Given the description of an element on the screen output the (x, y) to click on. 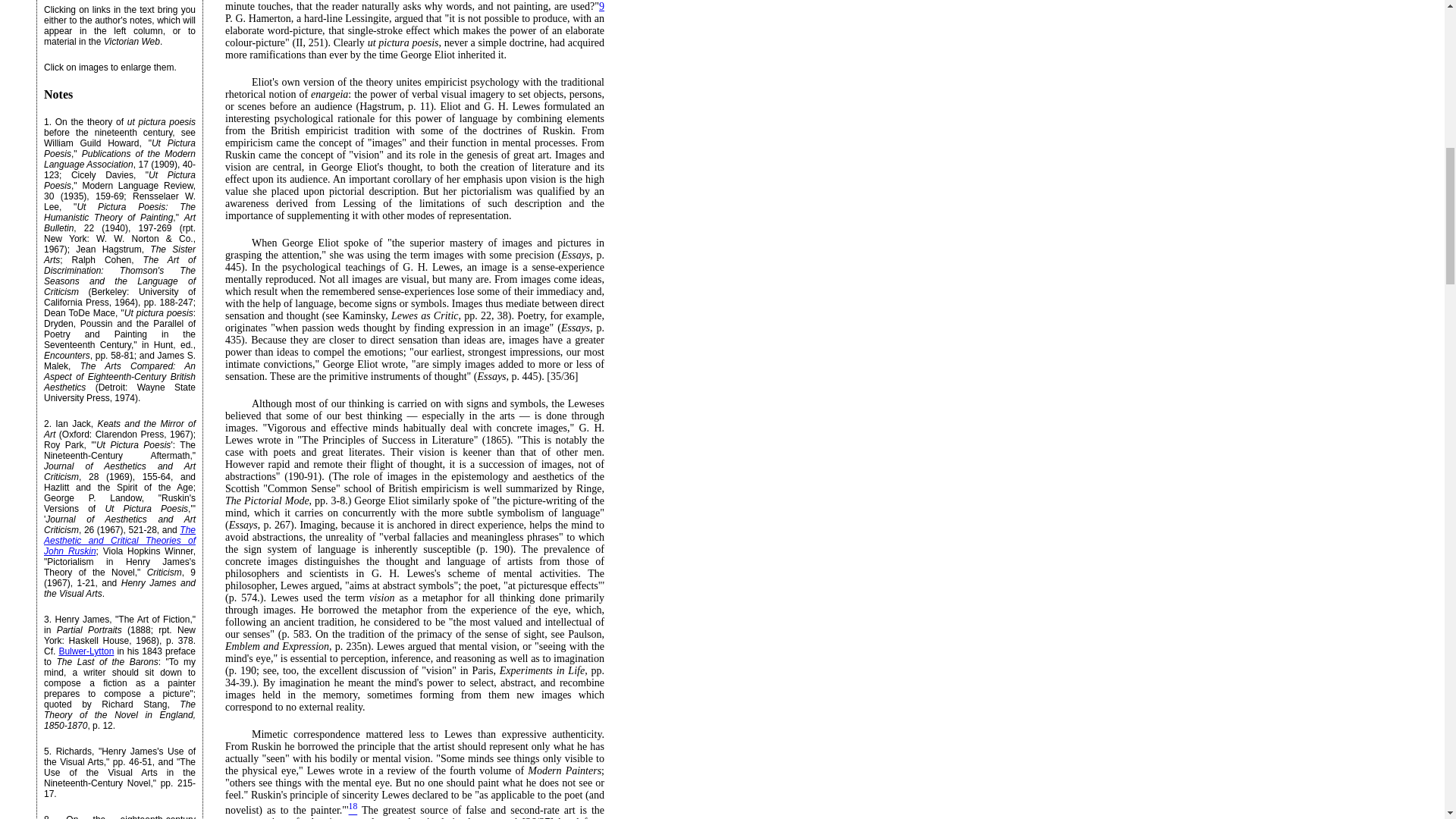
Bulwer-Lytton (85, 651)
The Aesthetic and Critical Theories of John Ruskin (119, 540)
